Given the description of an element on the screen output the (x, y) to click on. 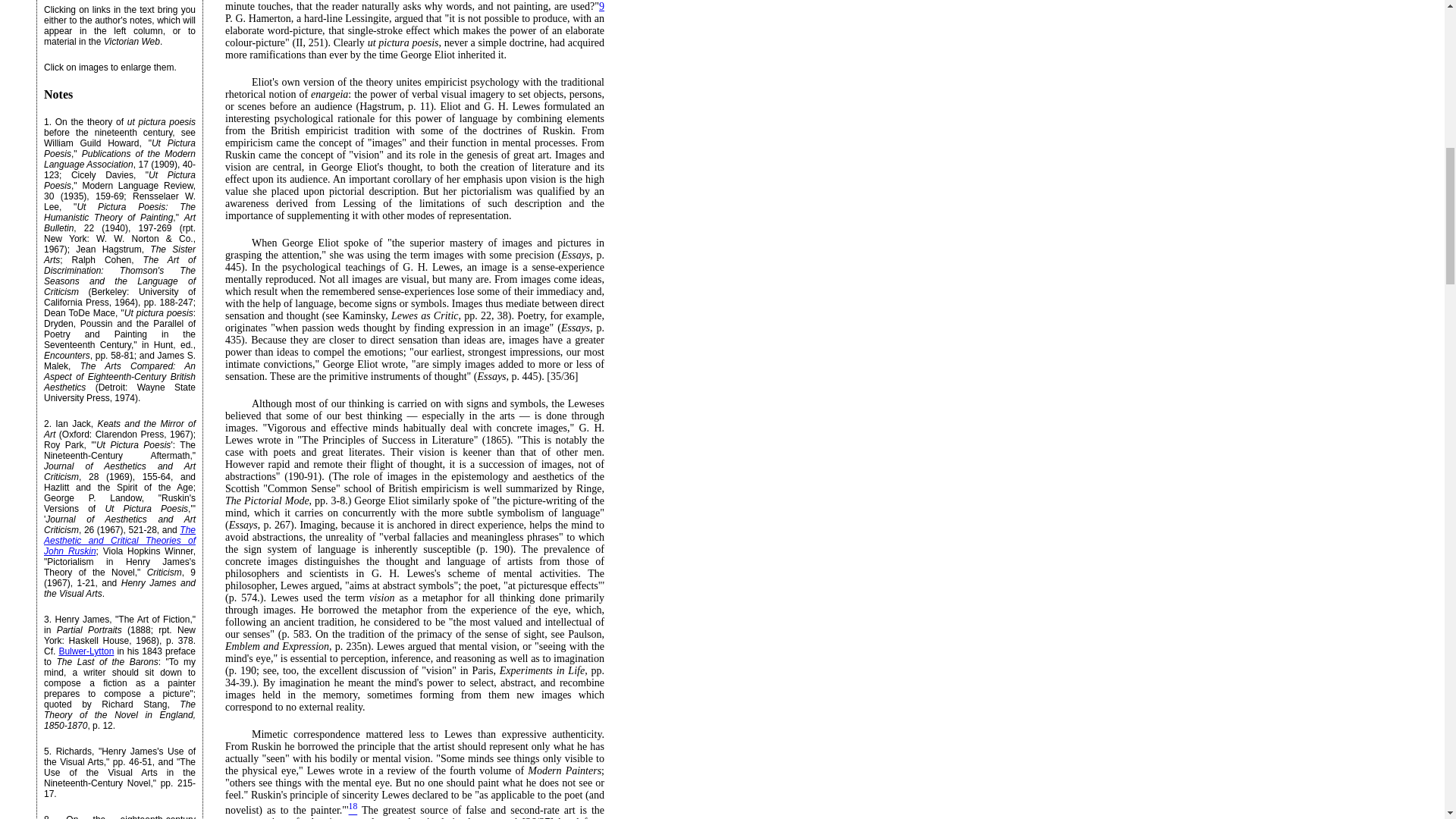
Bulwer-Lytton (85, 651)
The Aesthetic and Critical Theories of John Ruskin (119, 540)
